Given the description of an element on the screen output the (x, y) to click on. 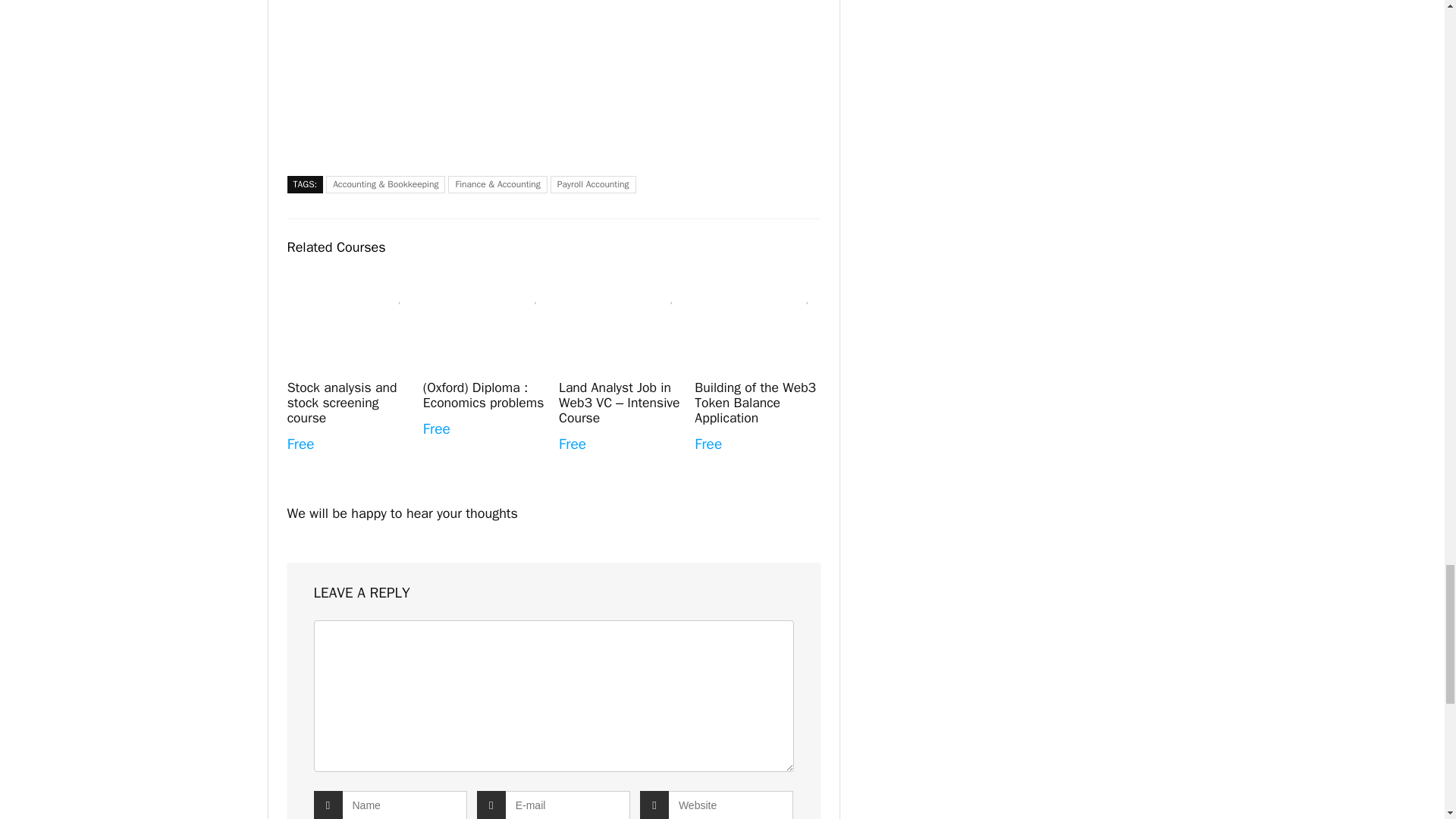
Payroll Accounting (593, 184)
Stock analysis and stock screening course (341, 402)
Building of the Web3 Token Balance Application (754, 402)
